Given the description of an element on the screen output the (x, y) to click on. 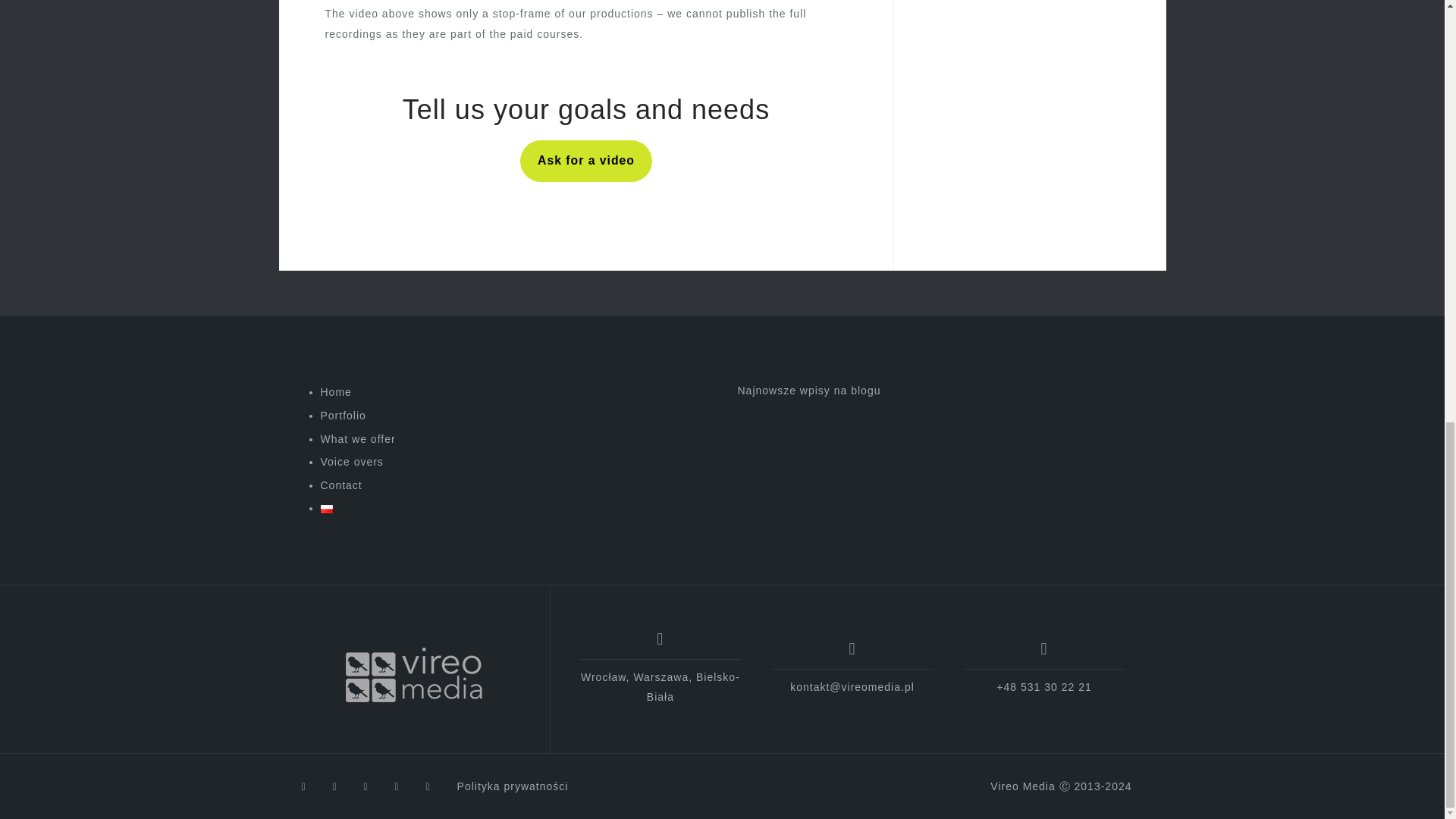
Contact (340, 485)
What we offer (357, 439)
Ask for a video (585, 160)
Home (335, 391)
Portfolio (342, 415)
Voice overs (351, 461)
Vireo Media (413, 674)
